Given the description of an element on the screen output the (x, y) to click on. 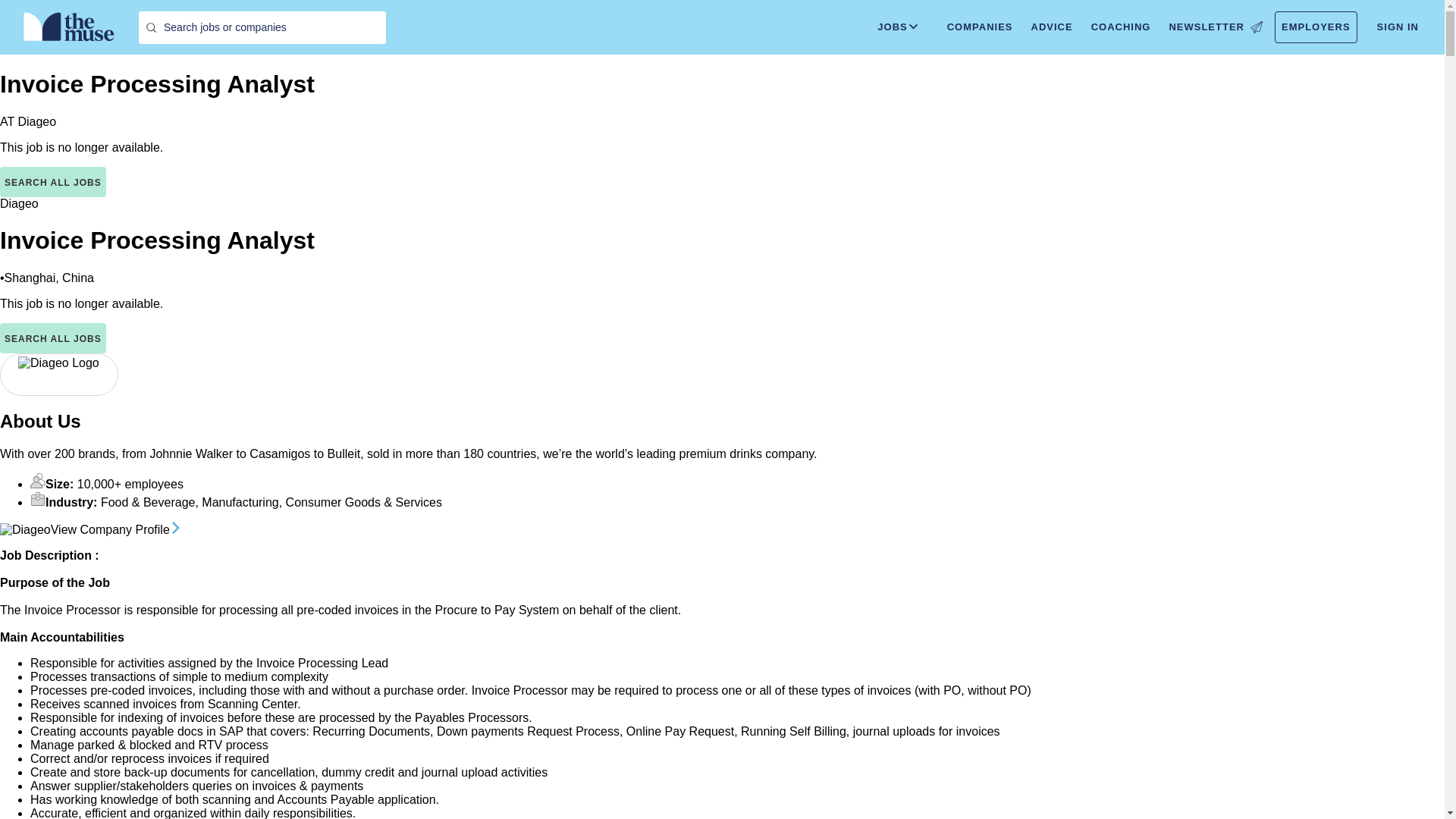
SIGN IN (1398, 27)
EMPLOYERS (1315, 27)
ADVICE (1051, 27)
COACHING (1120, 27)
View Company Profile (116, 529)
SEARCH ALL JOBS (53, 182)
Diageo (19, 203)
NEWSLETTER (1214, 27)
SEARCH ALL JOBS (53, 337)
COMPANIES (979, 27)
AT Diageo (28, 121)
